Given the description of an element on the screen output the (x, y) to click on. 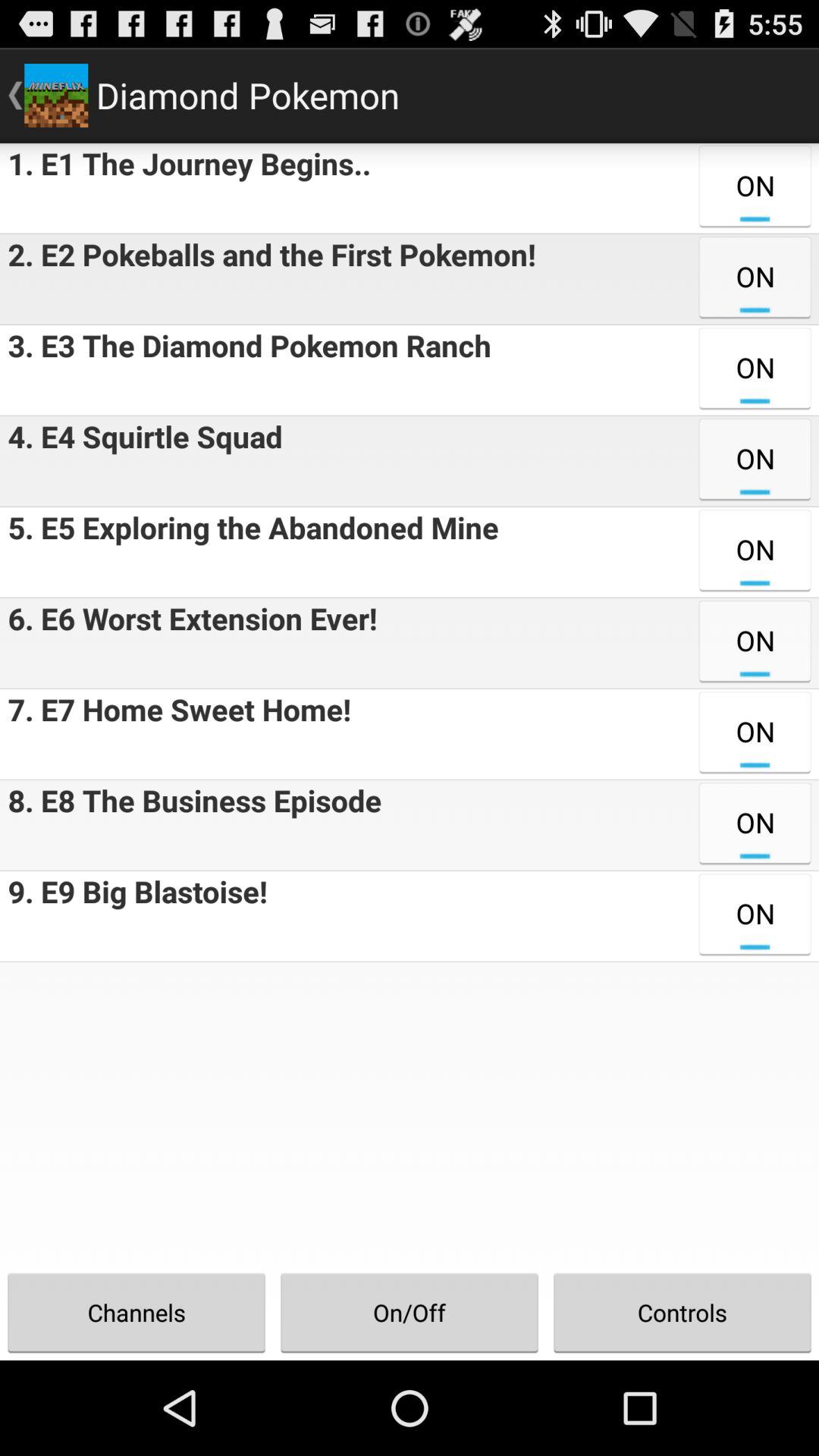
scroll to 9 e9 big icon (133, 916)
